Given the description of an element on the screen output the (x, y) to click on. 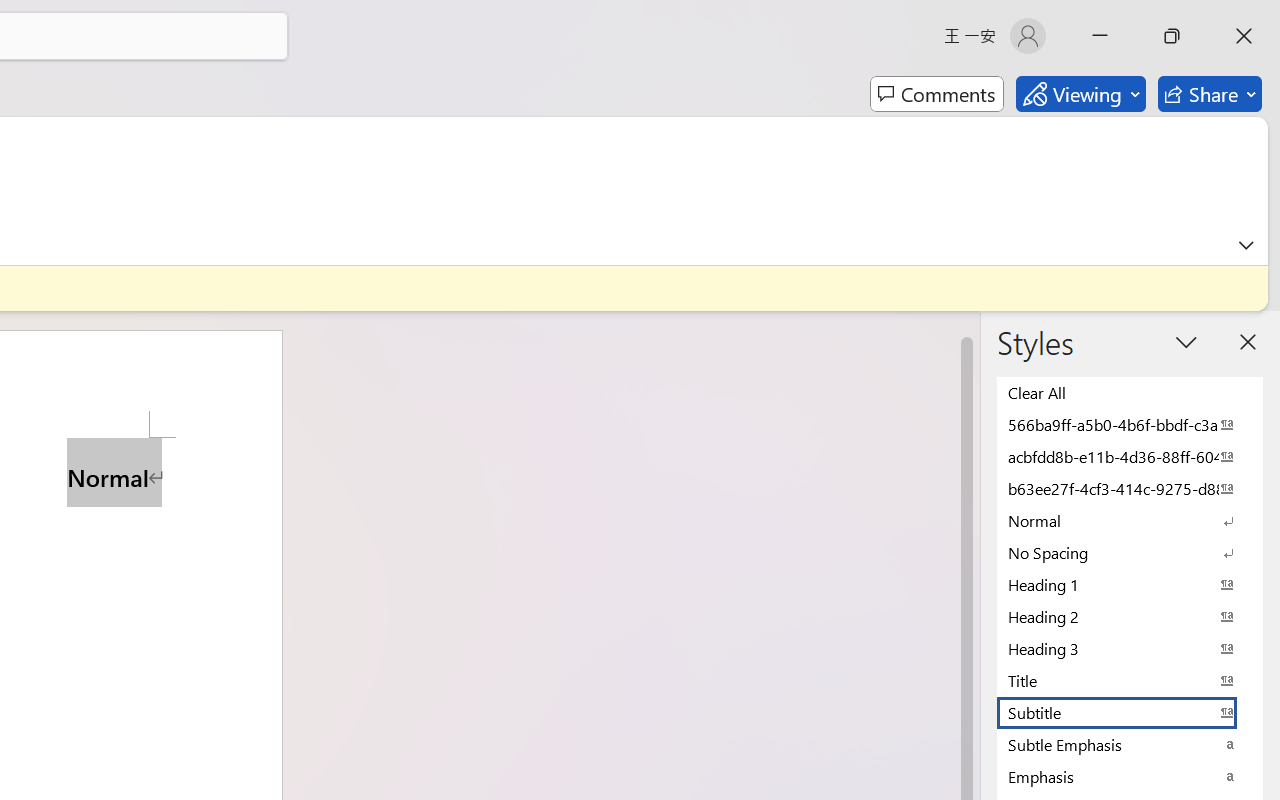
Heading 3 (1130, 648)
566ba9ff-a5b0-4b6f-bbdf-c3ab41993fc2 (1130, 424)
Subtle Emphasis (1130, 744)
Title (1130, 680)
Heading 2 (1130, 616)
Task Pane Options (1186, 342)
acbfdd8b-e11b-4d36-88ff-6049b138f862 (1130, 456)
No Spacing (1130, 552)
Ribbon Display Options (1246, 245)
Subtitle (1130, 712)
Heading 1 (1130, 584)
